Given the description of an element on the screen output the (x, y) to click on. 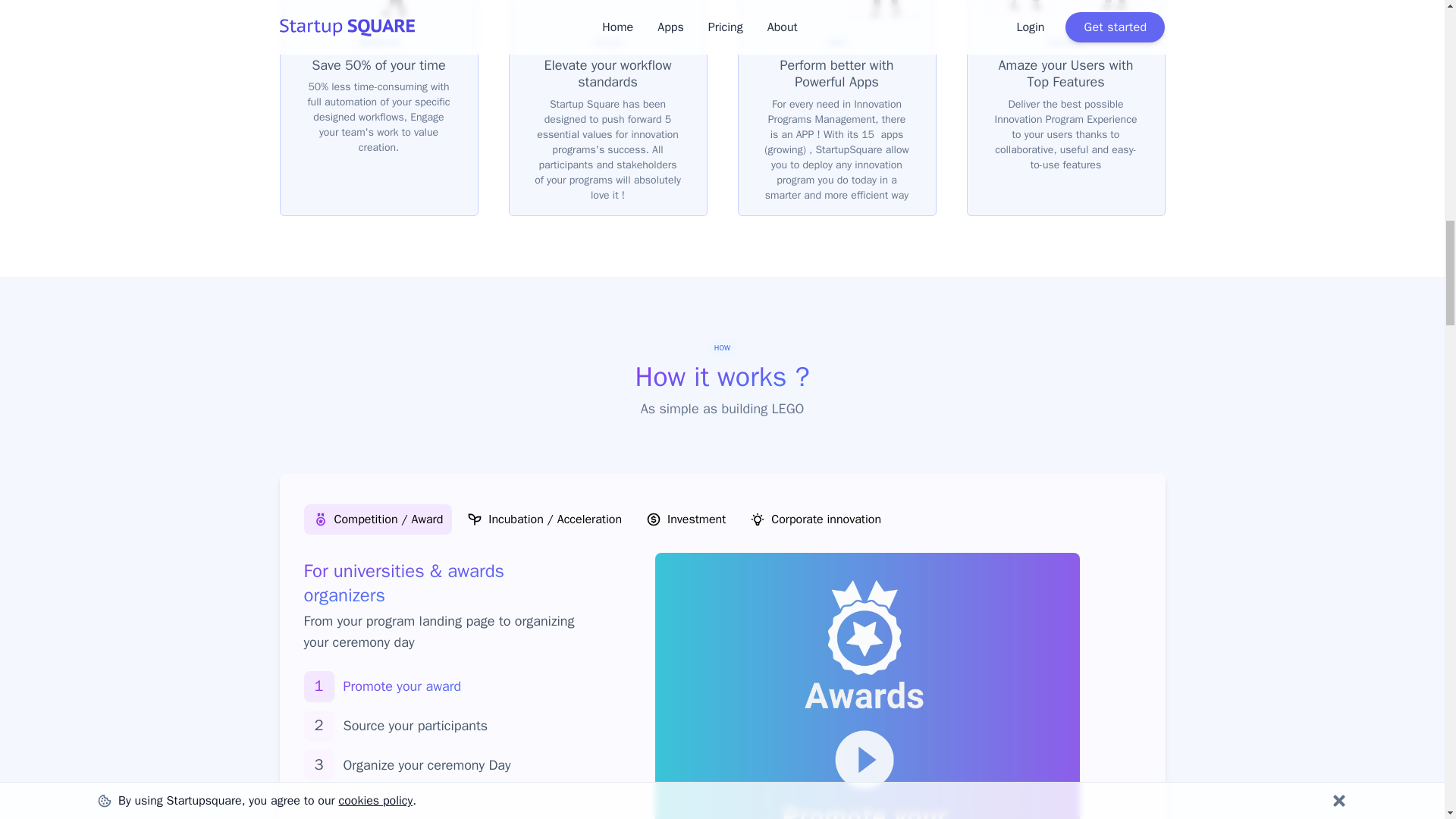
Corporate innovation (815, 519)
Investment (686, 519)
